Given the description of an element on the screen output the (x, y) to click on. 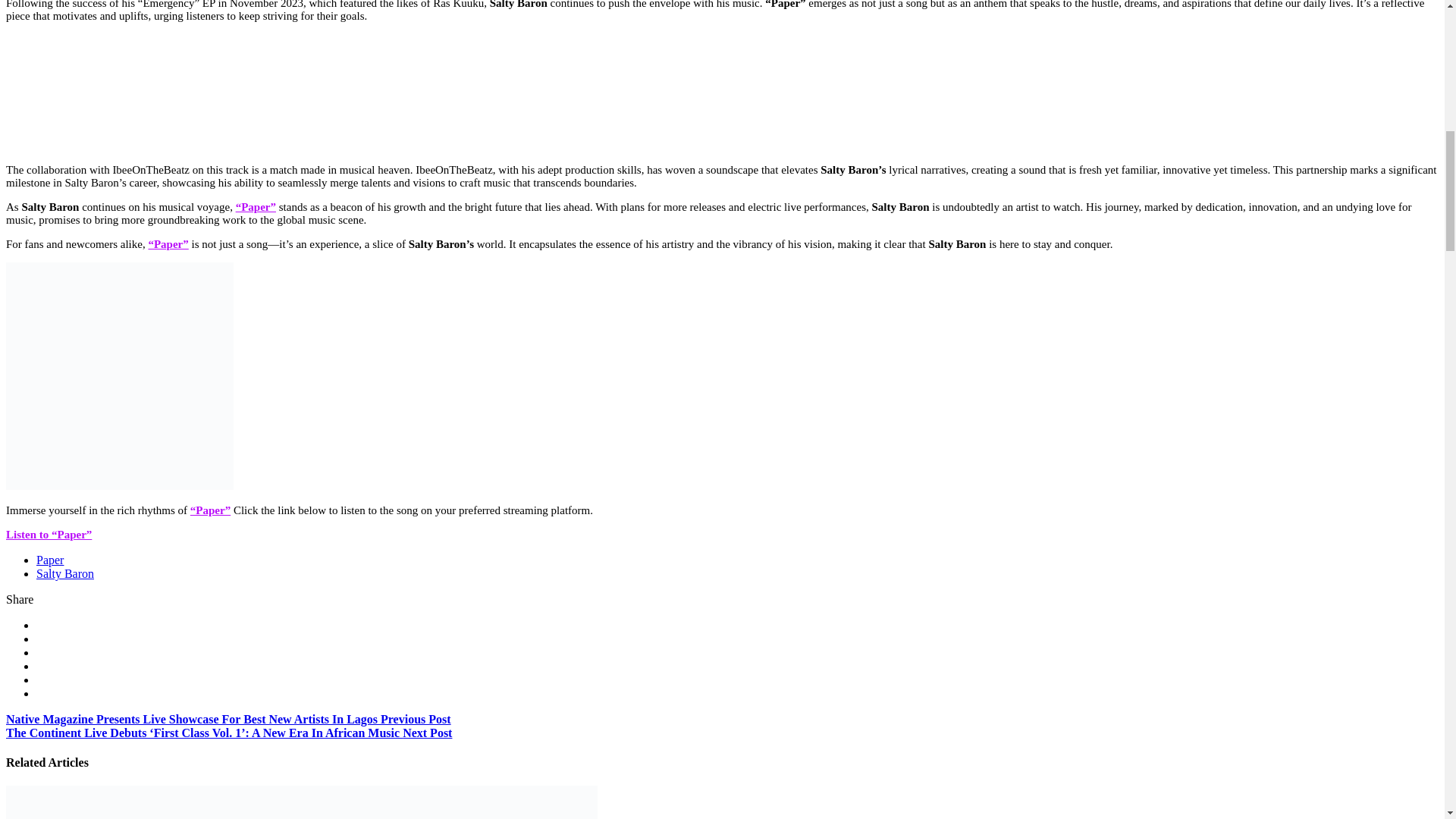
Salty Baron (65, 573)
Paper (50, 559)
